Given the description of an element on the screen output the (x, y) to click on. 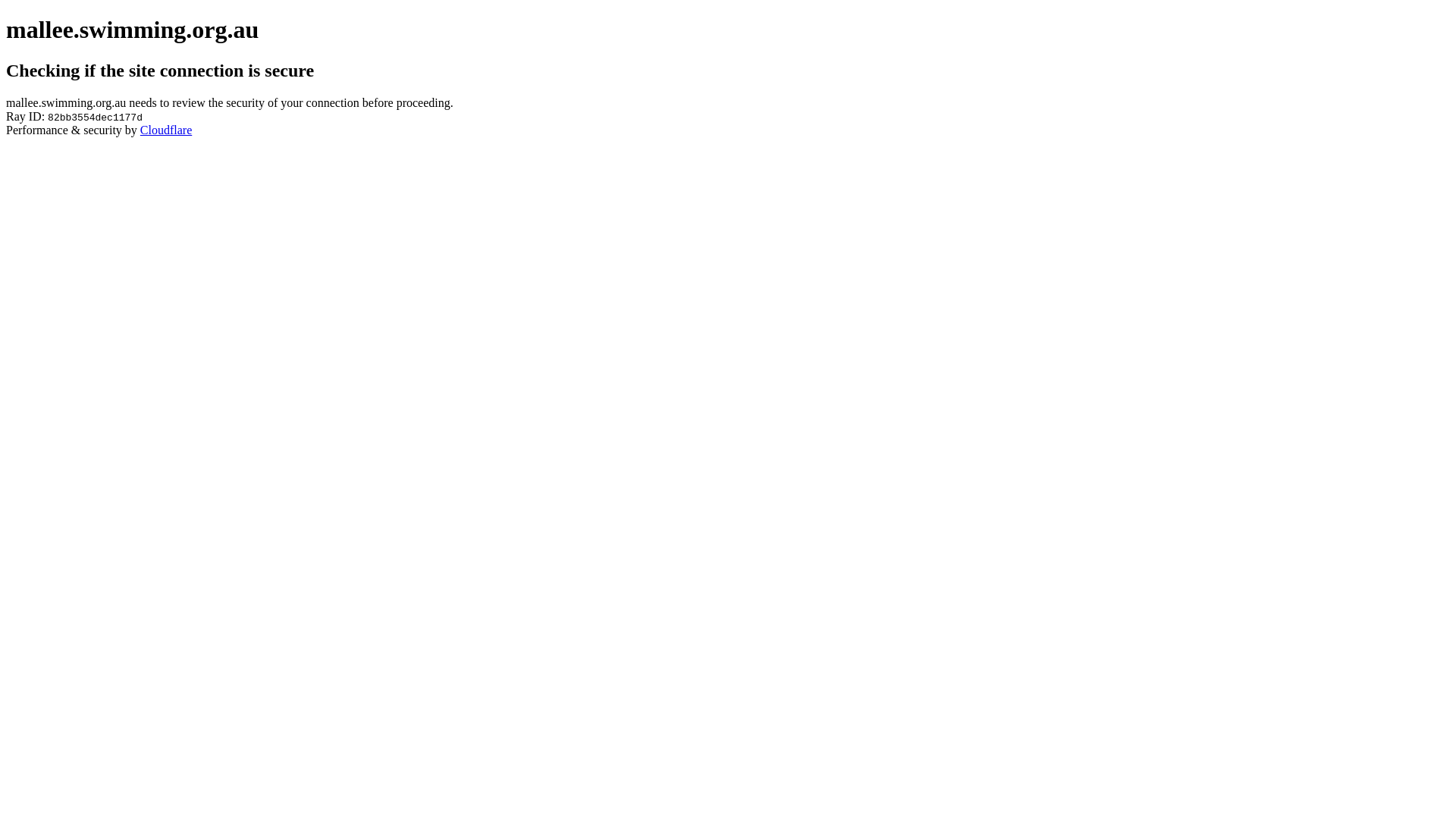
Cloudflare Element type: text (165, 129)
